Given the description of an element on the screen output the (x, y) to click on. 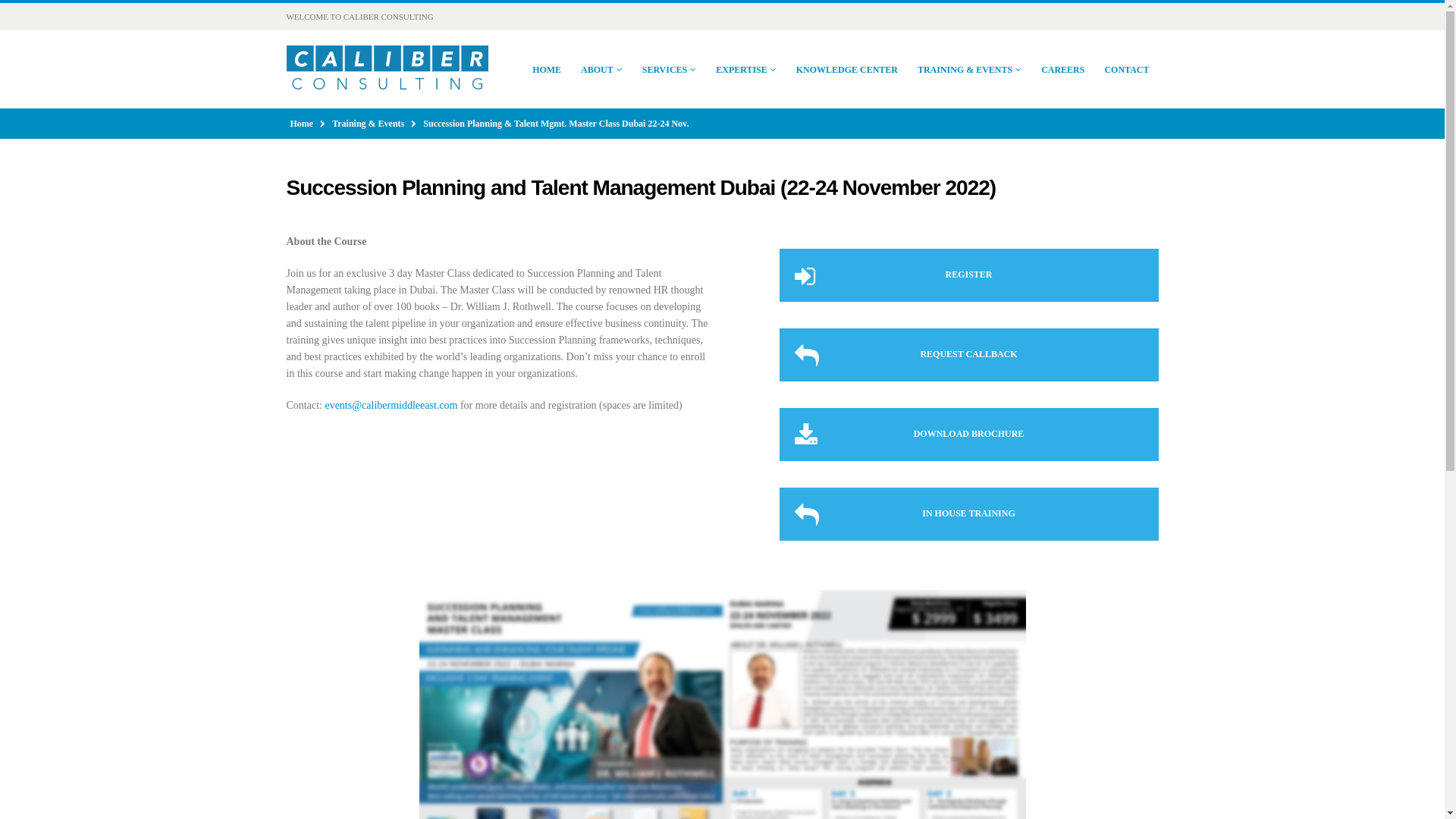
KNOWLEDGE CENTER (847, 69)
Home (301, 123)
EXPERTISE (746, 69)
ABOUT (601, 69)
SERVICES (669, 69)
REQUEST CALLBACK (968, 354)
Caliber Consulting - Your Strategy Execution Partner (386, 69)
HOME (546, 69)
CAREERS (1062, 69)
DOWNLOAD BROCHURE (968, 434)
